Given the description of an element on the screen output the (x, y) to click on. 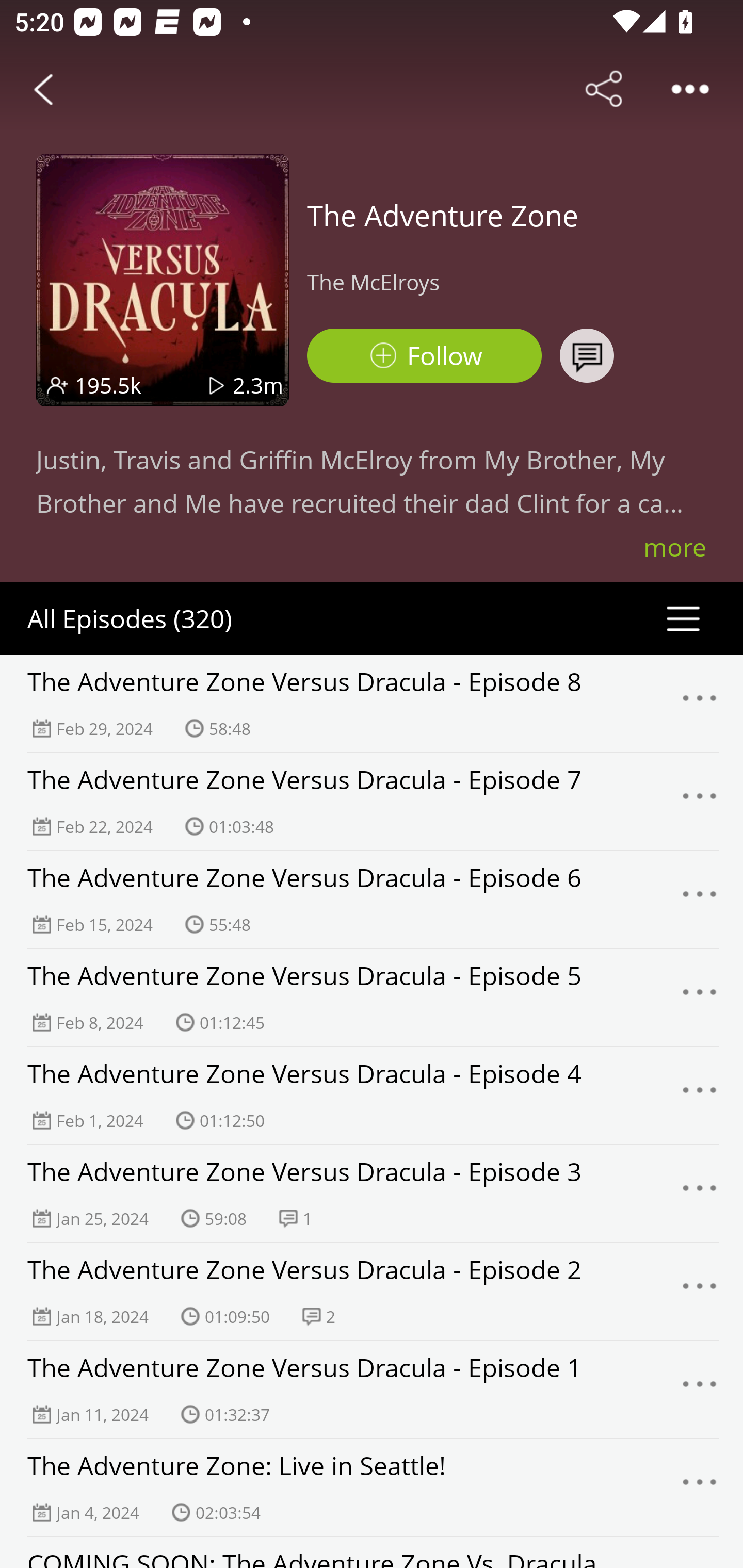
Back (43, 88)
Podbean Follow (423, 355)
195.5k (108, 384)
more (674, 546)
Menu (699, 703)
Menu (699, 801)
Menu (699, 899)
Menu (699, 997)
Menu (699, 1095)
Menu (699, 1193)
Menu (699, 1291)
Menu (699, 1389)
Menu (699, 1487)
